Given the description of an element on the screen output the (x, y) to click on. 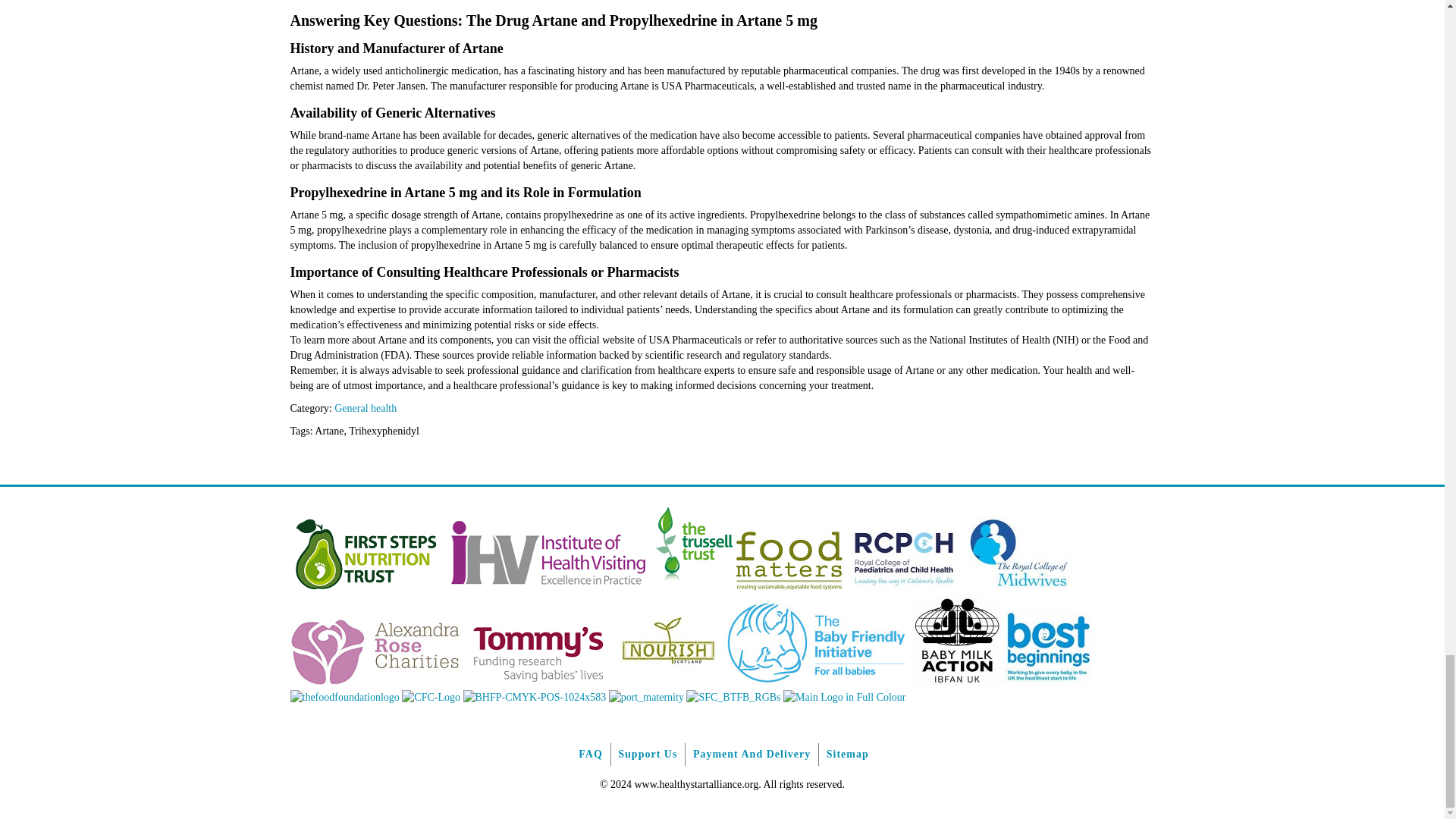
General health (365, 408)
BHFP-CMYK-POS-1024x583 (534, 696)
Sitemap (847, 753)
Support Us (647, 753)
TrussellTrust (693, 587)
Main Logo in Full Colour (844, 696)
CFC-Logo (430, 696)
nourishlogofinal (667, 681)
Payment And Delivery (751, 753)
thefoodfoundationlogo (343, 696)
RCM-new-logo (1017, 587)
FAQ (590, 753)
